Given the description of an element on the screen output the (x, y) to click on. 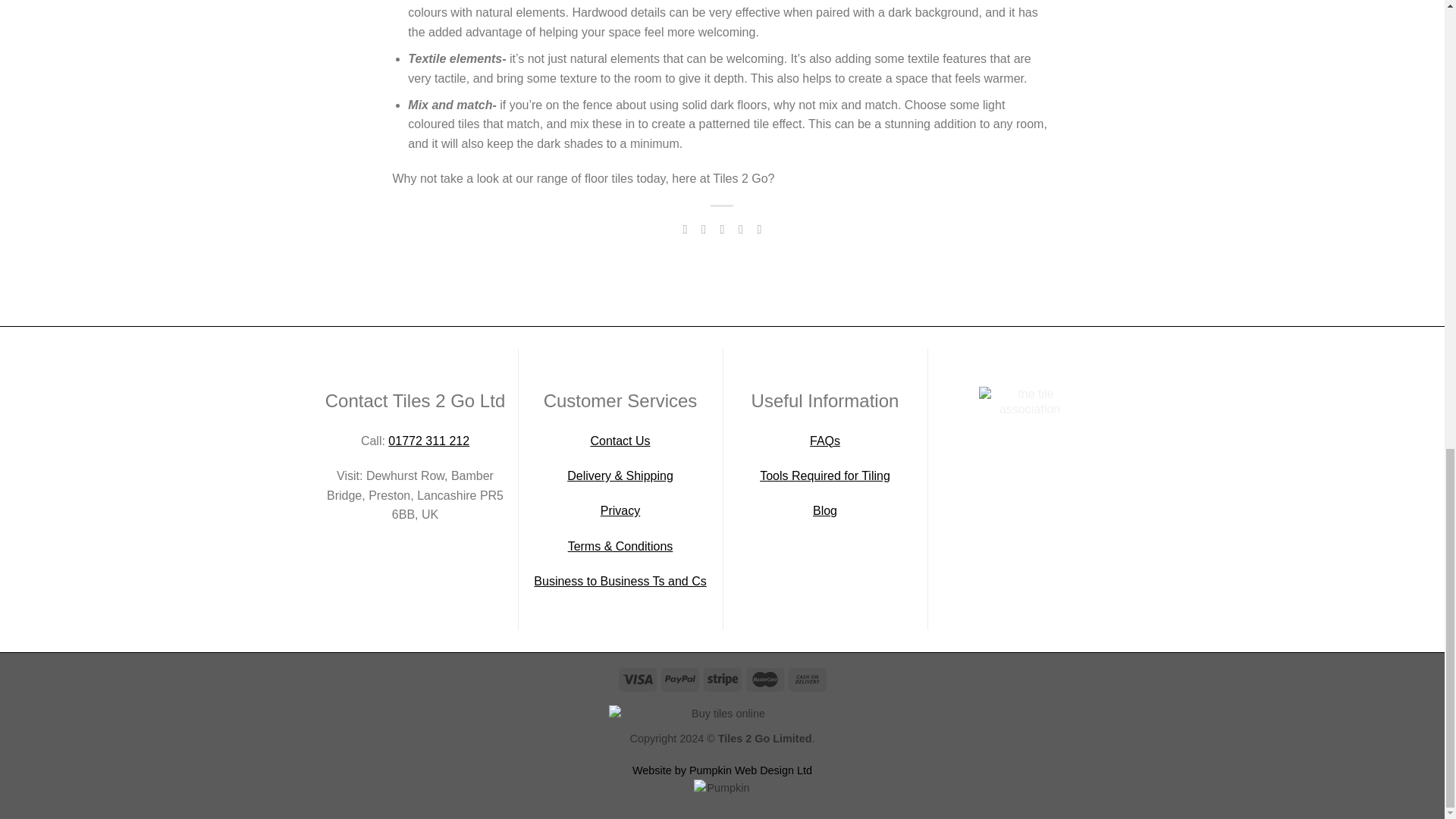
Pin on Pinterest (740, 228)
01772 311 212 (428, 440)
FAQs (824, 440)
Business to Business Ts and Cs (620, 581)
Share on Facebook (684, 228)
Email to a Friend (722, 228)
Share on Twitter (703, 228)
Privacy (619, 510)
Contact Us (619, 440)
Tools Required for Tiling (824, 475)
